Given the description of an element on the screen output the (x, y) to click on. 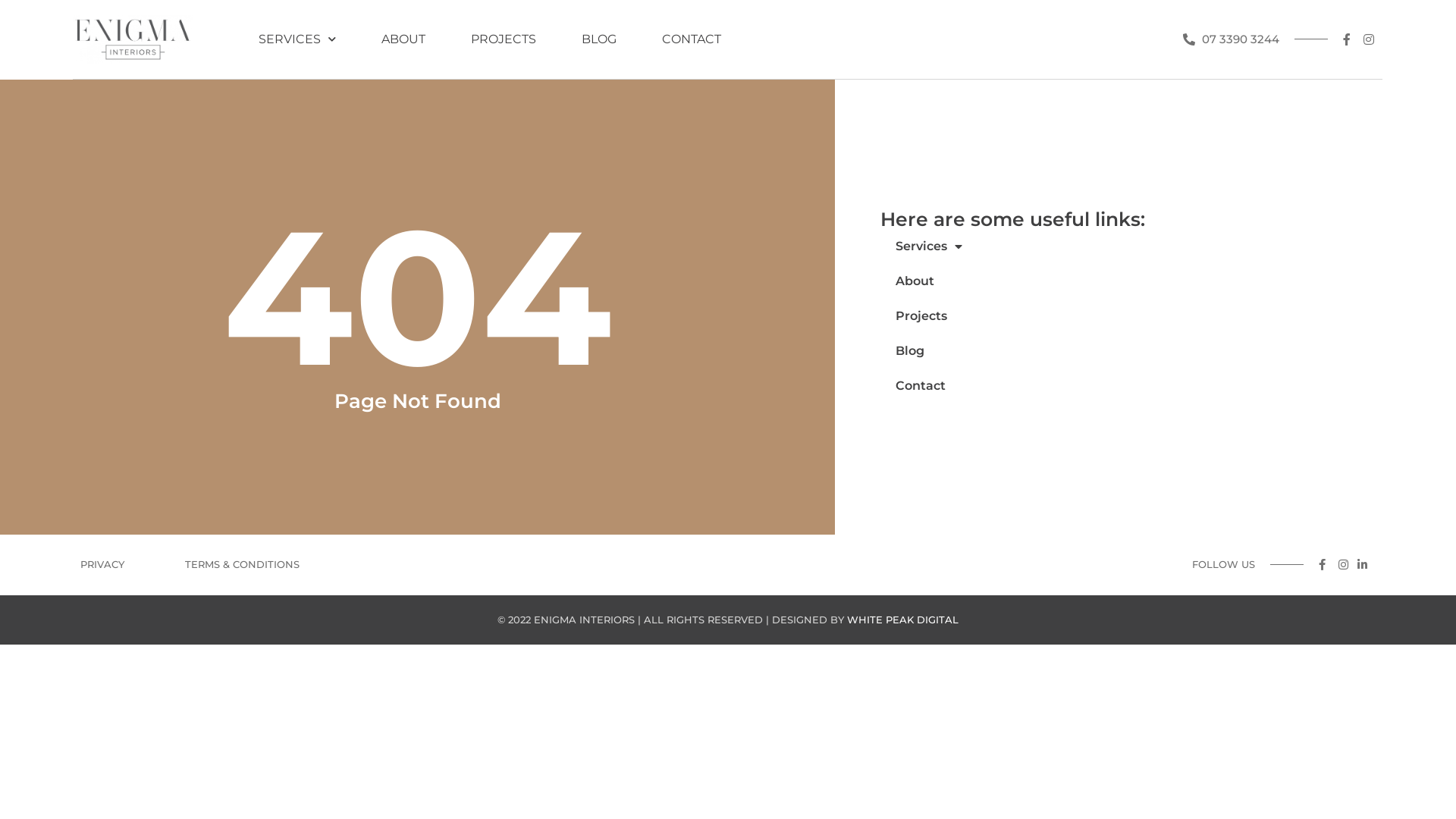
ABOUT Element type: text (403, 38)
WHITE PEAK DIGITAL Element type: text (902, 619)
SERVICES Element type: text (297, 38)
CONTACT Element type: text (691, 38)
Services Element type: text (1156, 246)
Blog Element type: text (1156, 350)
Projects Element type: text (1156, 315)
PROJECTS Element type: text (503, 38)
BLOG Element type: text (598, 38)
07 3390 3244 Element type: text (1231, 39)
About Element type: text (1156, 280)
Contact Element type: text (1156, 385)
